Given the description of an element on the screen output the (x, y) to click on. 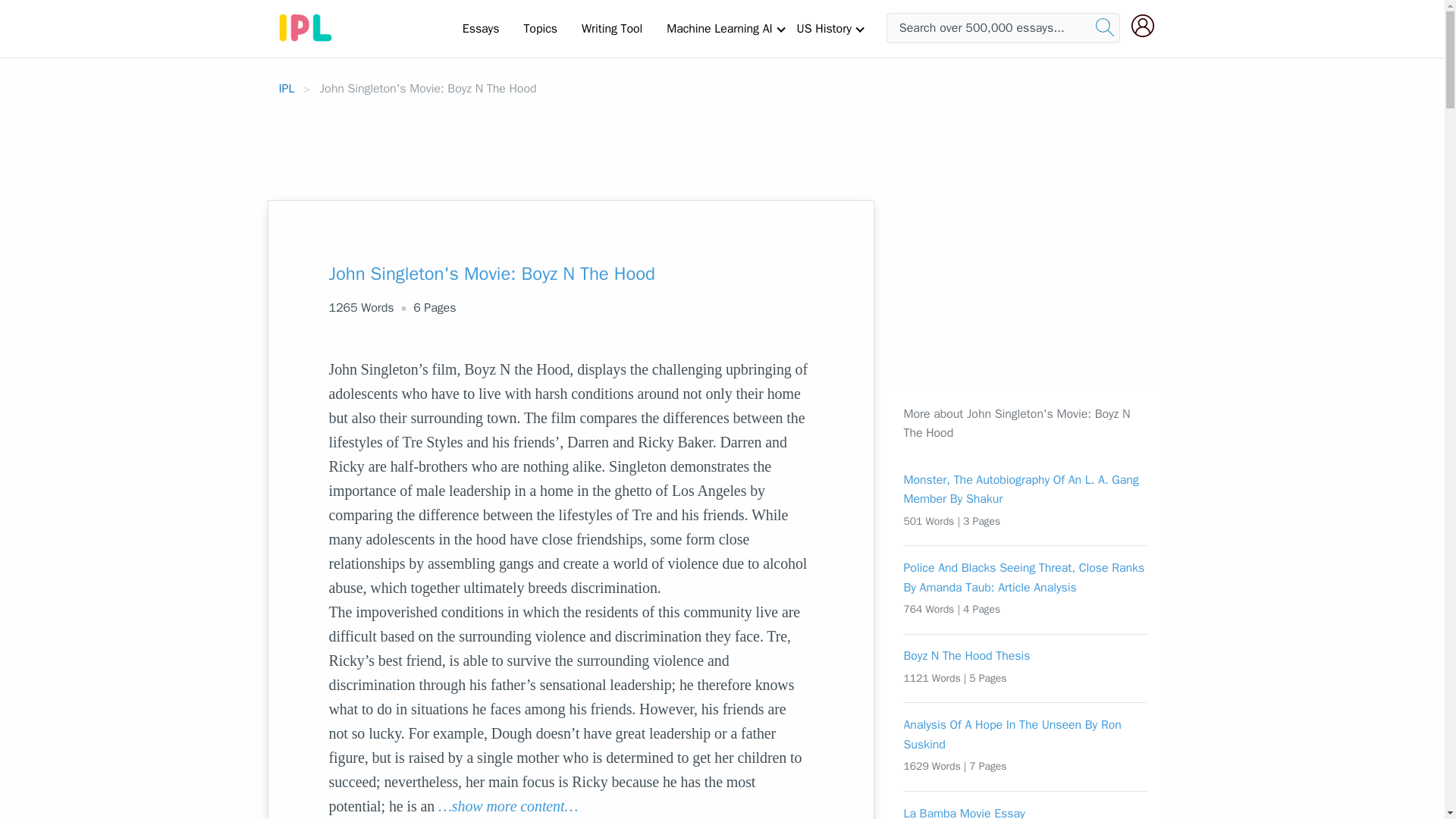
Machine Learning AI (718, 28)
La Bamba Movie Essay (1026, 811)
Analysis Of A Hope In The Unseen By Ron Suskind (1026, 734)
Writing Tool (611, 28)
US History (823, 28)
Topics (540, 28)
Monster, The Autobiography Of An L. A. Gang Member By Shakur (1026, 489)
Essays (480, 28)
Boyz N The Hood Thesis (1026, 656)
IPL (287, 88)
